Given the description of an element on the screen output the (x, y) to click on. 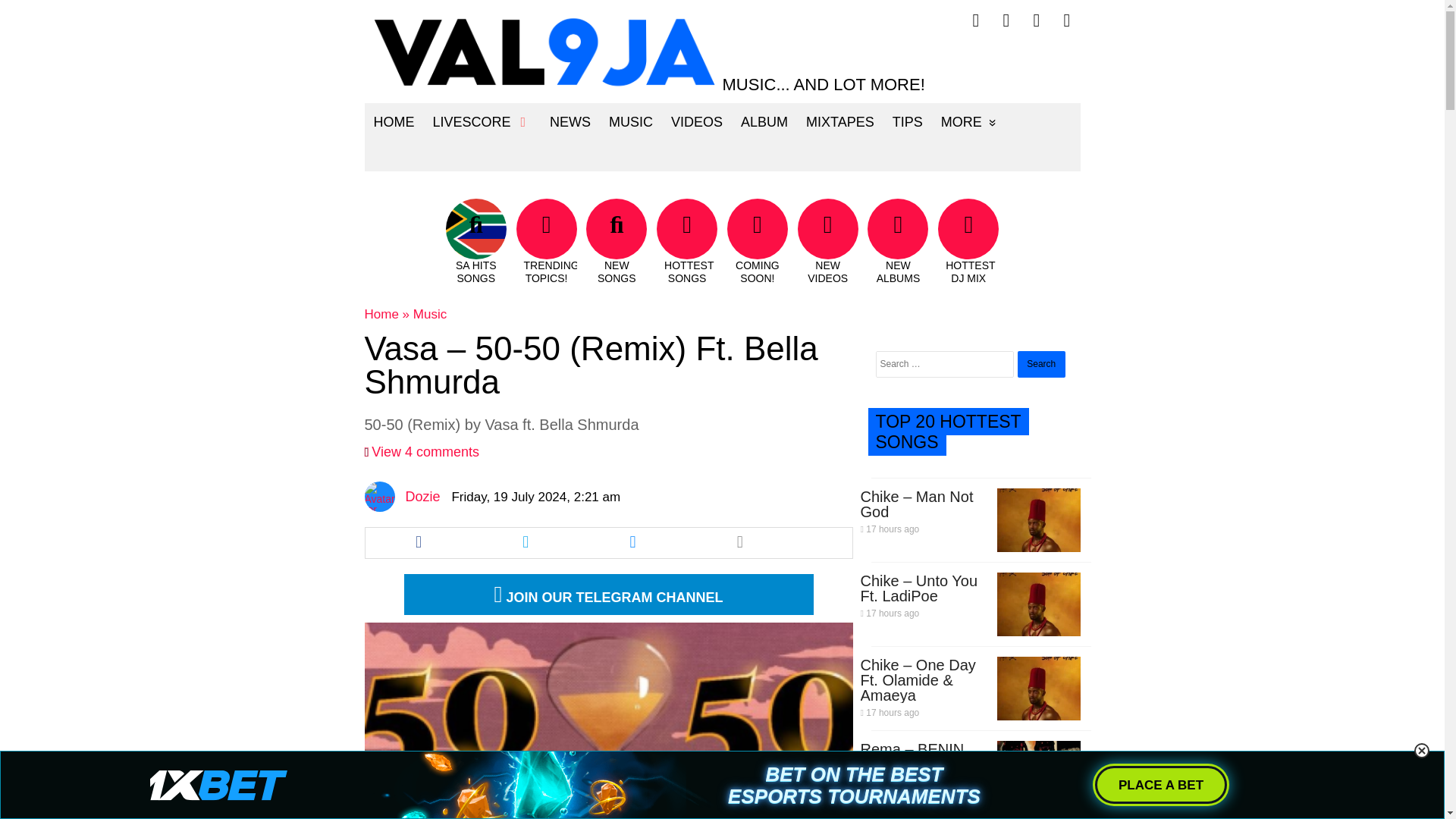
Posts by Dozie (421, 496)
ALBUM (764, 121)
MIXTAPES (839, 121)
Follow Six9ja.com on Pinterest (1036, 20)
Gravatar for Dozie (379, 496)
Follow Six9ja.com on Twitter (1006, 20)
Search (1041, 364)
MUSIC (630, 121)
HOME (393, 121)
View 4 comments (425, 451)
VIDEOS (697, 121)
TIPS (907, 121)
Follow Six9ja.com on Instagram (1067, 20)
Follow Six9ja.com on Facebook (976, 20)
LIVESCORE (481, 121)
